Given the description of an element on the screen output the (x, y) to click on. 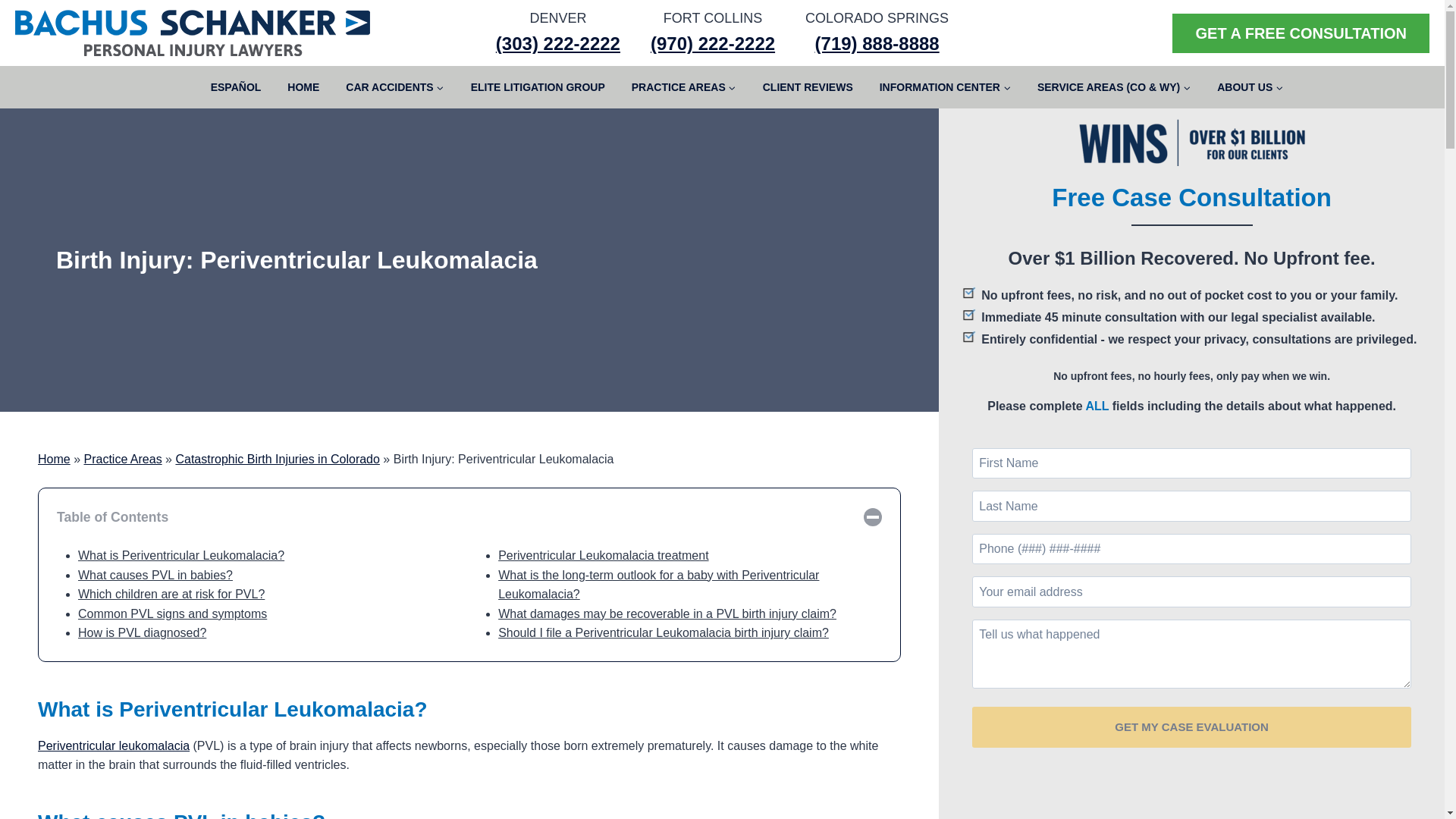
CAR ACCIDENTS (395, 87)
PRACTICE AREAS (683, 87)
ELITE LITIGATION GROUP (537, 87)
GET MY CASE EVALUATION (1191, 726)
GET A FREE CONSULTATION (1300, 33)
HOME (304, 87)
